Given the description of an element on the screen output the (x, y) to click on. 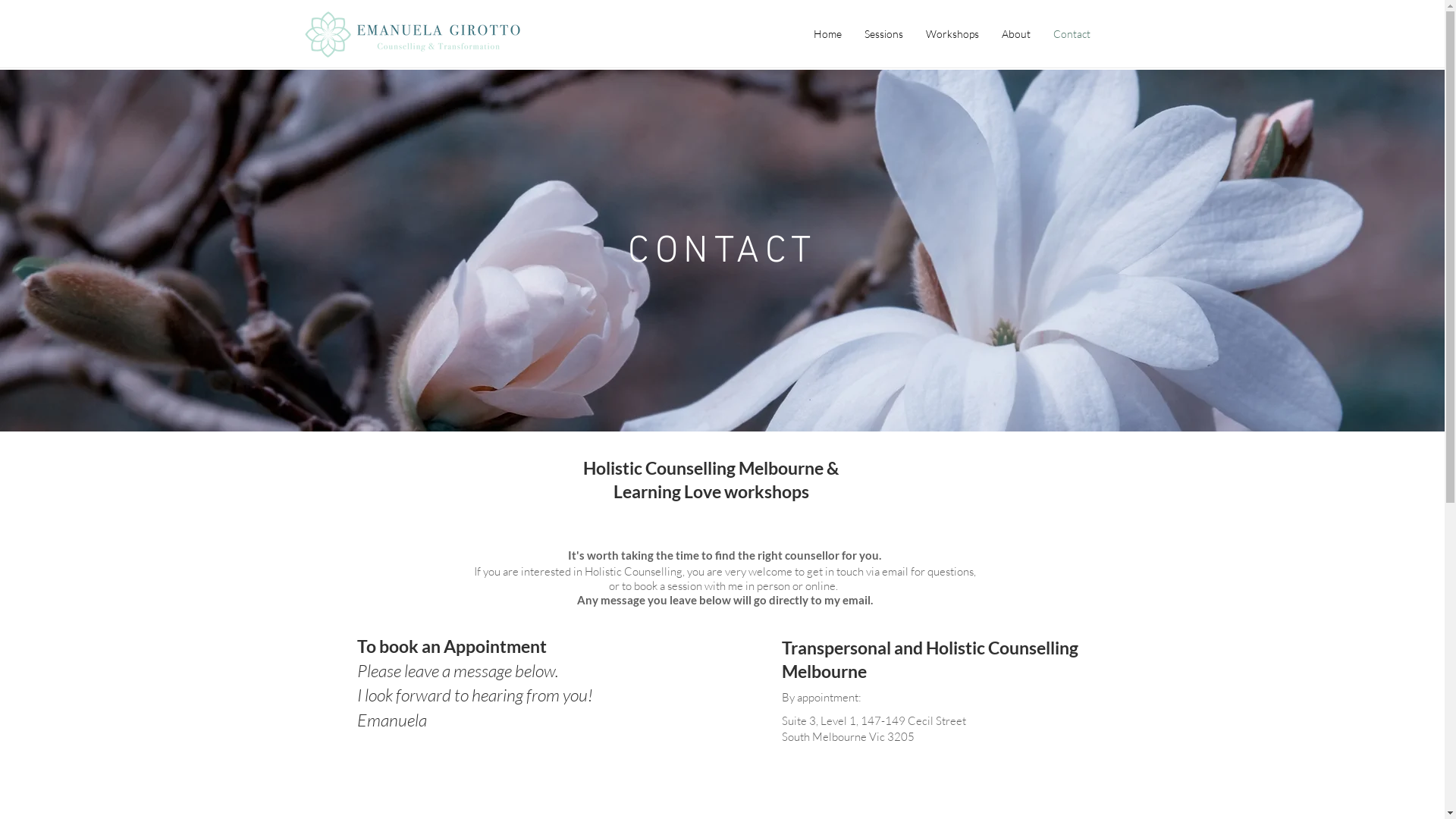
Contact Element type: text (1071, 33)
Home Element type: text (827, 33)
About Element type: text (1015, 33)
Workshops Element type: text (952, 33)
